Given the description of an element on the screen output the (x, y) to click on. 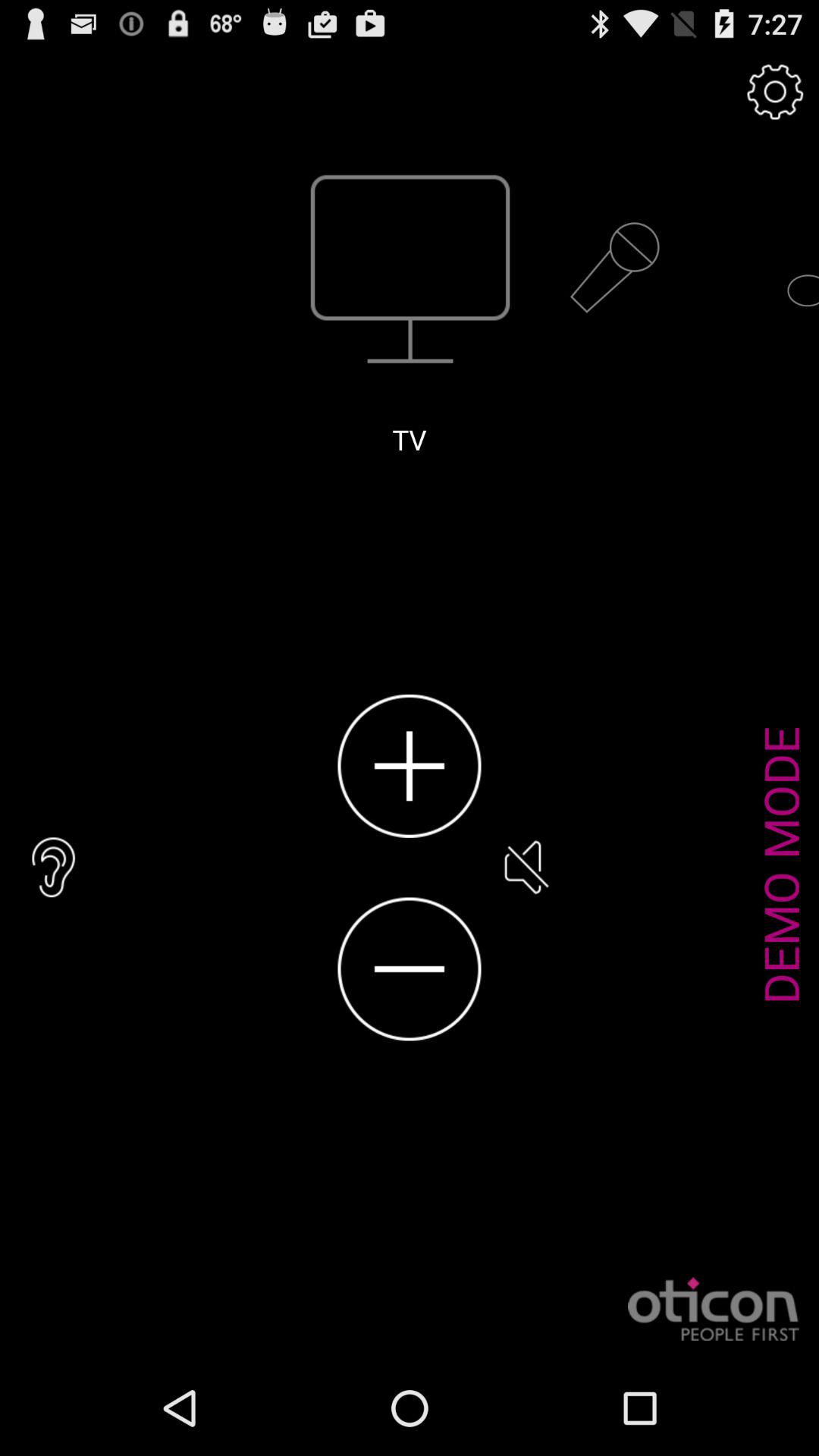
turn off item on the left (53, 867)
